Given the description of an element on the screen output the (x, y) to click on. 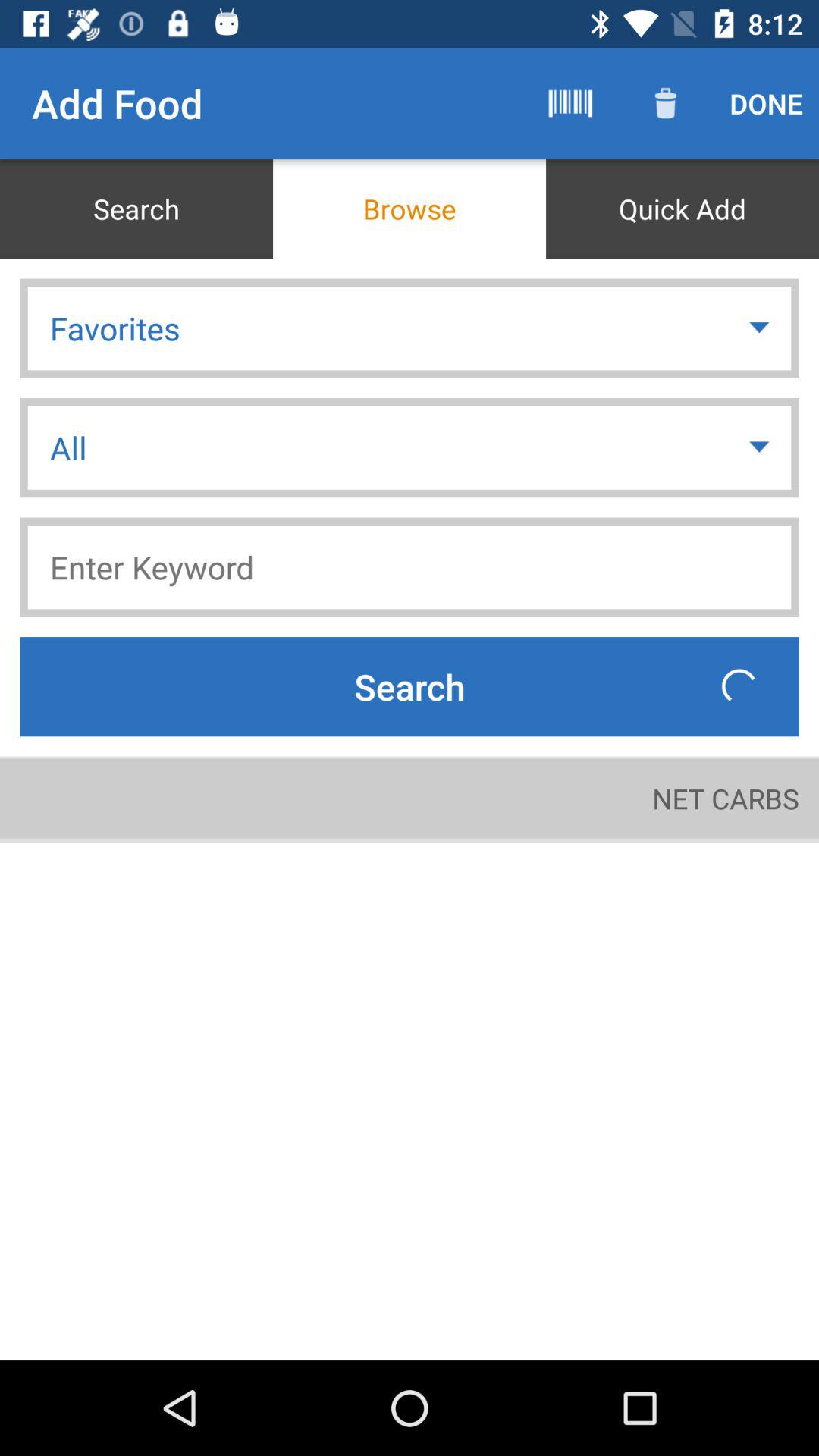
open item above all item (761, 328)
